Given the description of an element on the screen output the (x, y) to click on. 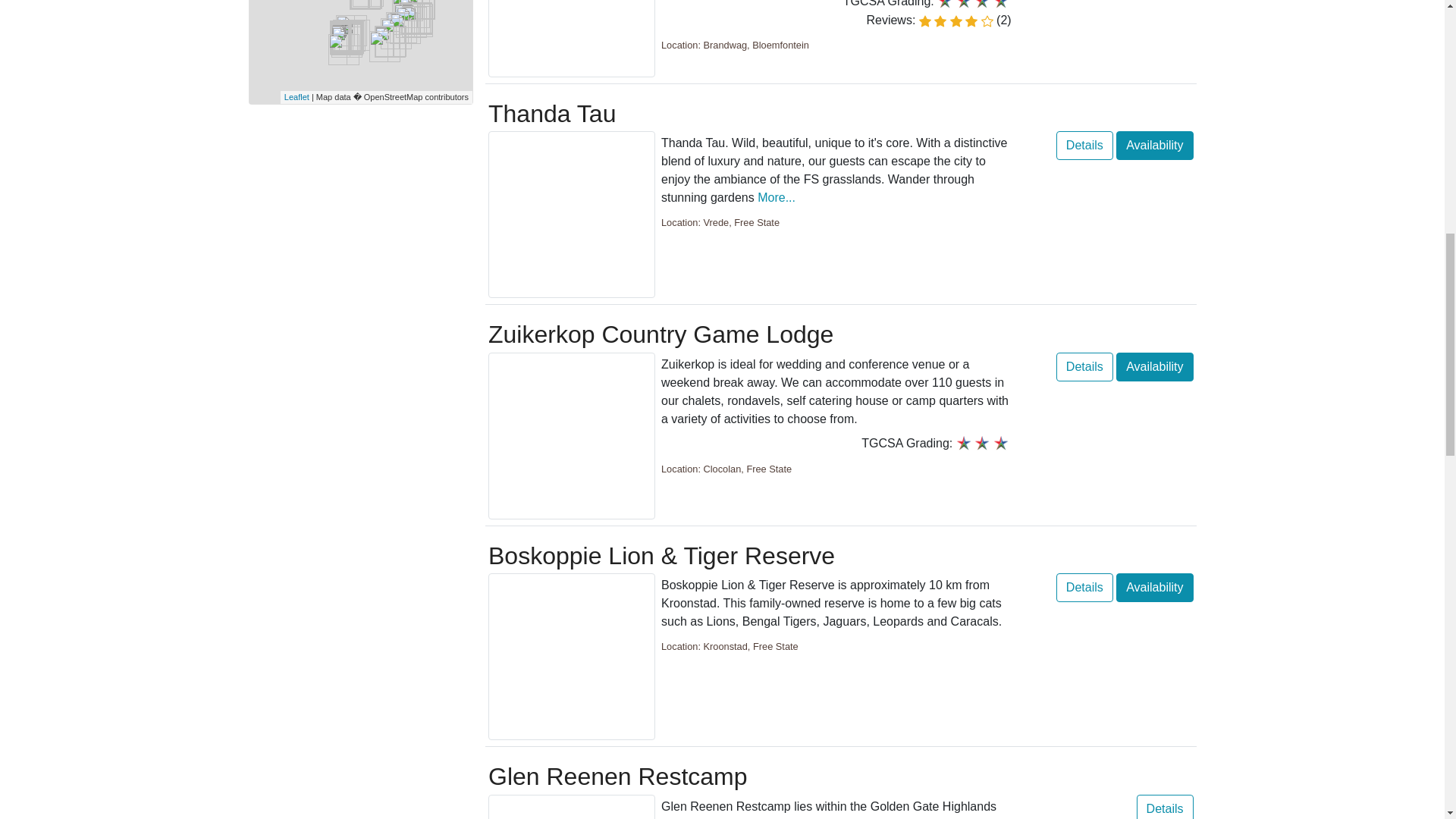
Palm Lodge (571, 38)
Glen Reenen Restcamp (571, 806)
Thanda Tau - 214936 (571, 214)
A JS library for interactive maps (295, 96)
Zuikerkop Country Game Lodge - 193085 (571, 435)
